Given the description of an element on the screen output the (x, y) to click on. 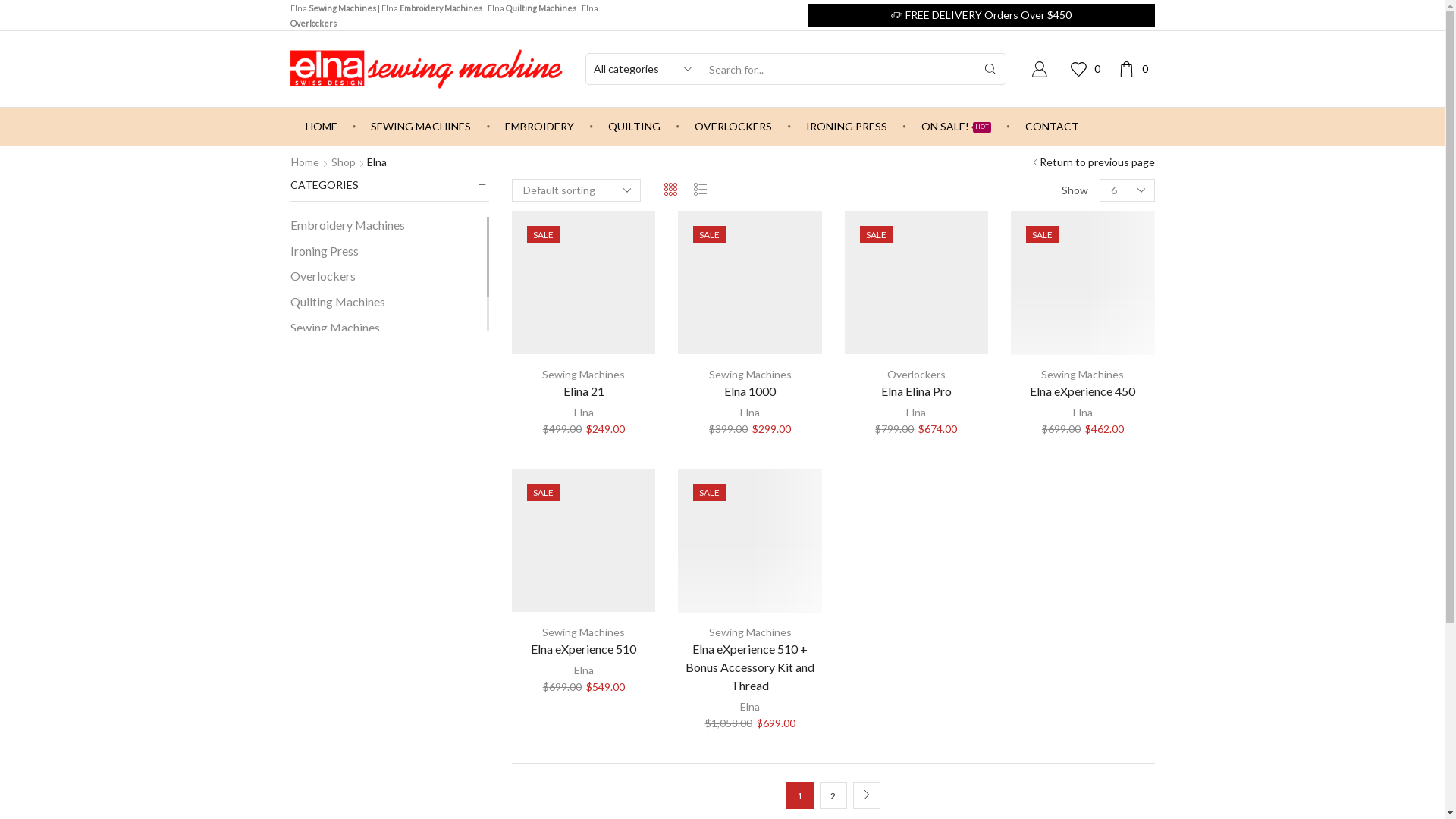
Home Element type: text (304, 161)
Log in Element type: text (932, 279)
Elna 1000 Element type: text (749, 391)
Elna Element type: text (1082, 411)
HOME Element type: text (320, 126)
OVERLOCKERS Element type: text (733, 126)
Uncategorized Element type: text (328, 350)
Elna eXperience 450 Element type: text (1082, 391)
Sewing Machines Element type: text (583, 631)
Elna Elina Pro Element type: text (916, 391)
CONTACT Element type: text (1052, 126)
Elna Element type: text (583, 669)
IRONING PRESS Element type: text (846, 126)
Elna Element type: text (749, 411)
EMBROIDERY Element type: text (539, 126)
Elna Embroidery Machines Element type: text (430, 7)
Elna Overlockers Element type: text (443, 15)
Shop Element type: text (343, 161)
ON SALE!HOT Element type: text (956, 126)
Embroidery Machines Element type: text (346, 227)
2 Element type: text (833, 795)
QUILTING Element type: text (634, 126)
Elna Sewing Machines Element type: text (332, 7)
Elna Element type: text (749, 705)
0 Element type: text (1136, 68)
0 Element type: text (1088, 68)
Elna Element type: text (583, 411)
Elna eXperience 510 Element type: text (583, 649)
Quilting Machines Element type: text (336, 302)
Elna Element type: text (915, 411)
Overlockers Element type: text (321, 276)
Ironing Press Element type: text (323, 250)
Sewing Machines Element type: text (750, 631)
Sewing Machines Element type: text (583, 373)
SEWING MACHINES Element type: text (420, 126)
Sewing Machines Element type: text (1082, 373)
Sewing Machines Element type: text (750, 373)
Elna Quilting Machines Element type: text (530, 7)
Overlockers Element type: text (916, 373)
Return to previous page Element type: text (1096, 161)
Elna eXperience 510 + Bonus Accessory Kit and Thread Element type: text (749, 667)
Elina 21 Element type: text (583, 391)
Sewing Machines Element type: text (334, 327)
